Given the description of an element on the screen output the (x, y) to click on. 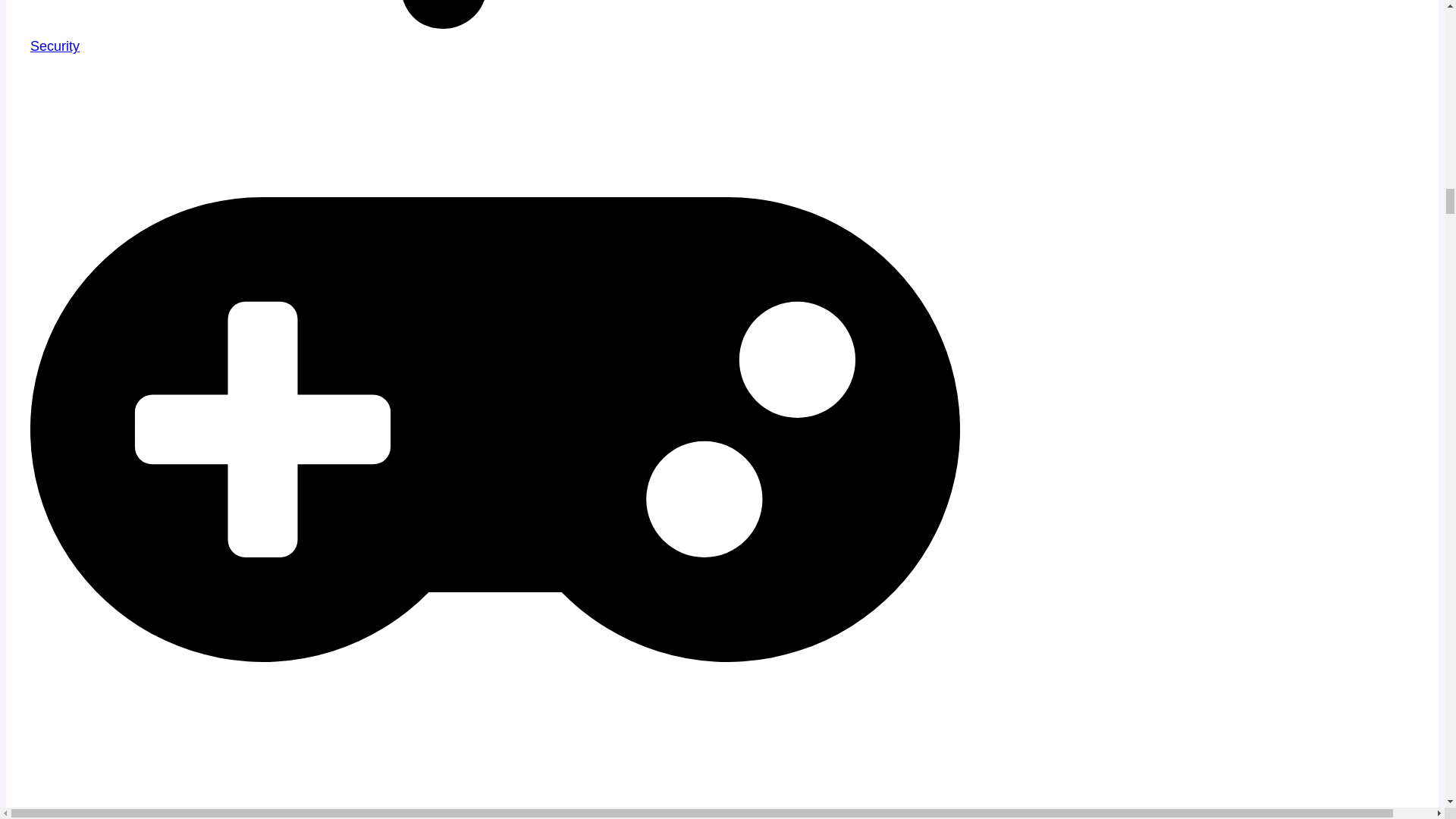
Security (55, 46)
Gaming (54, 815)
